Given the description of an element on the screen output the (x, y) to click on. 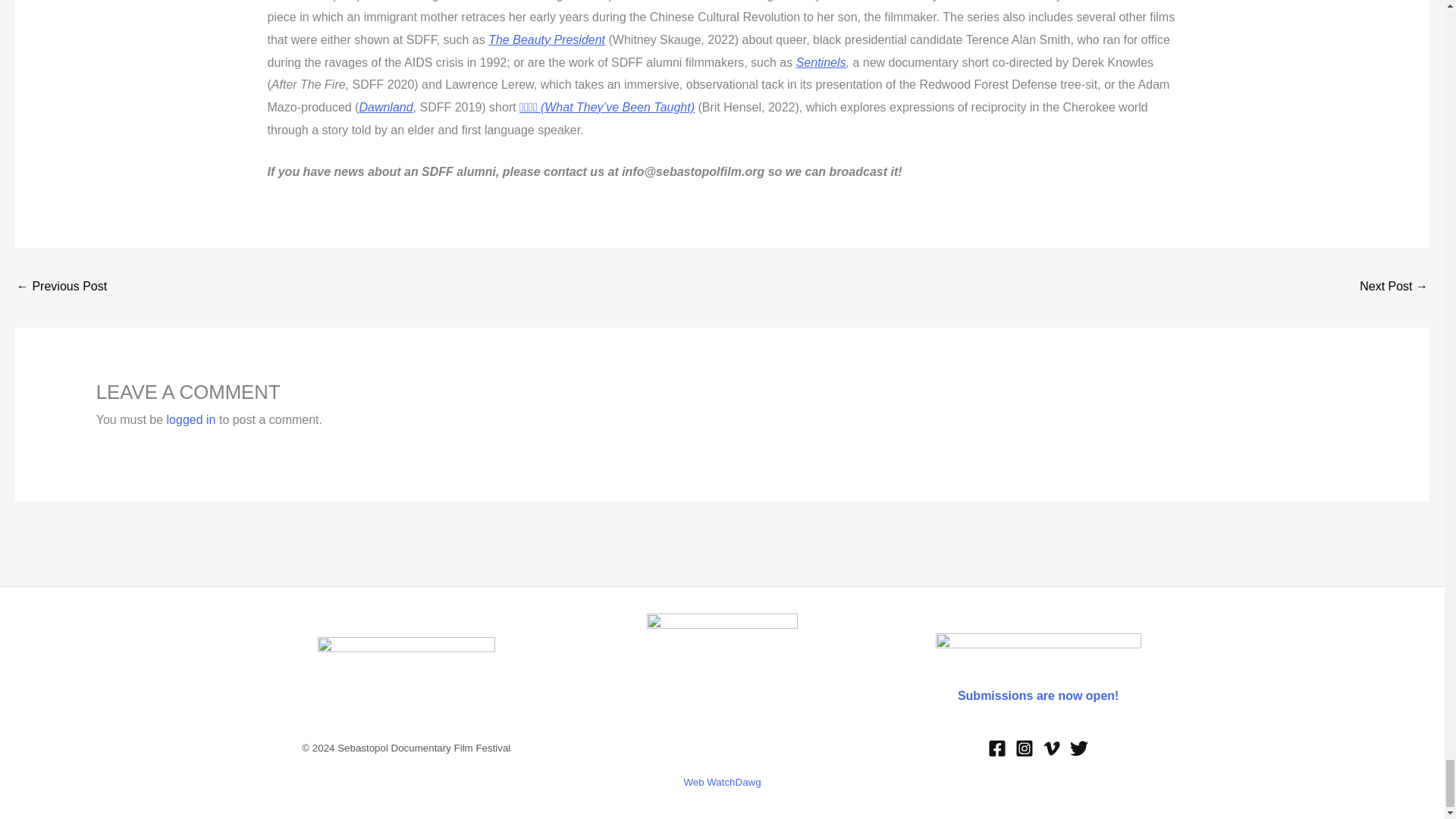
Bay Area Environmental Shorts Showcase - Nov. 1 (1393, 287)
